Given the description of an element on the screen output the (x, y) to click on. 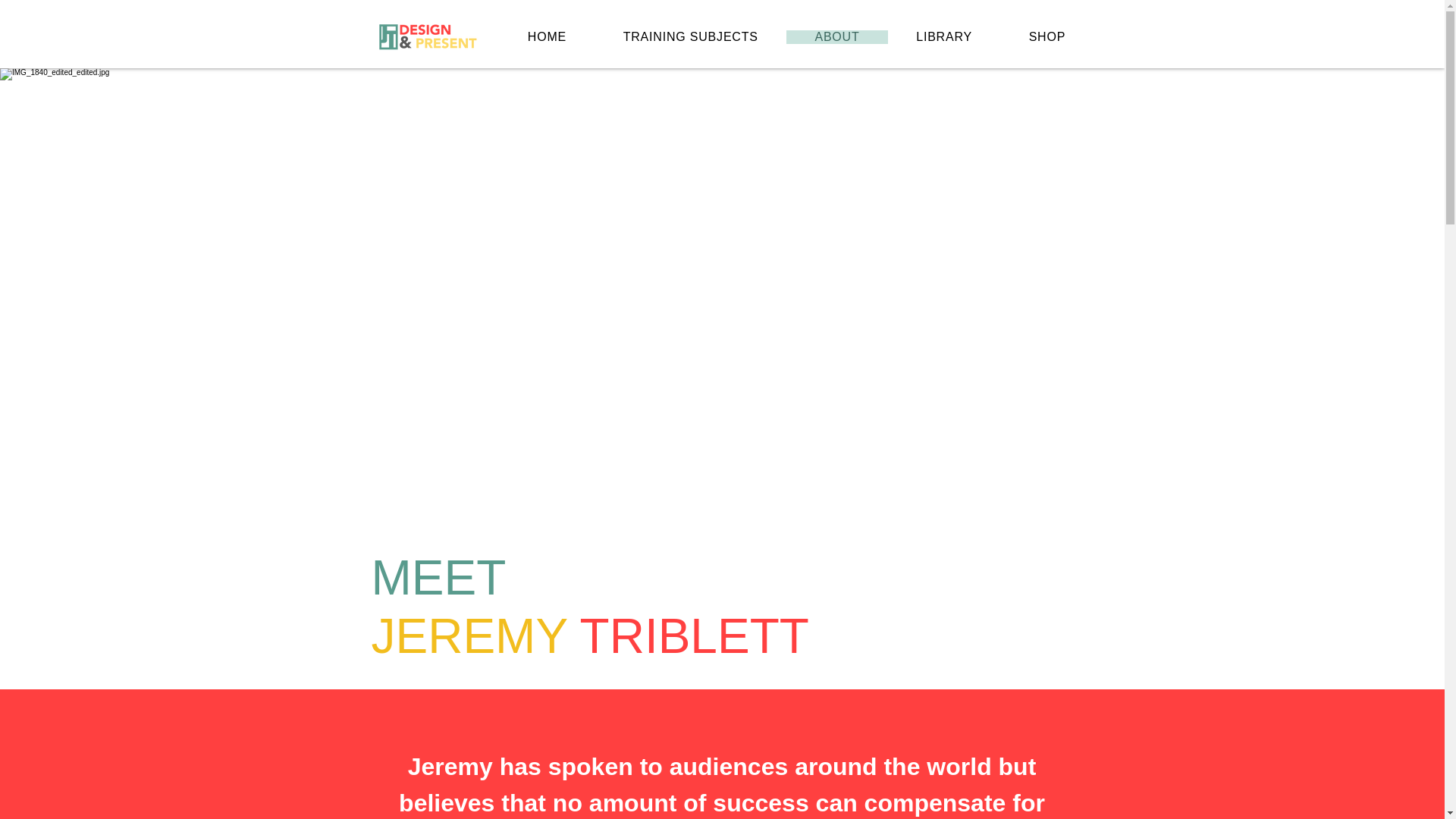
TRAINING SUBJECTS (690, 37)
HOME (546, 37)
SHOP (1046, 37)
ABOUT (837, 37)
LIBRARY (944, 37)
